Given the description of an element on the screen output the (x, y) to click on. 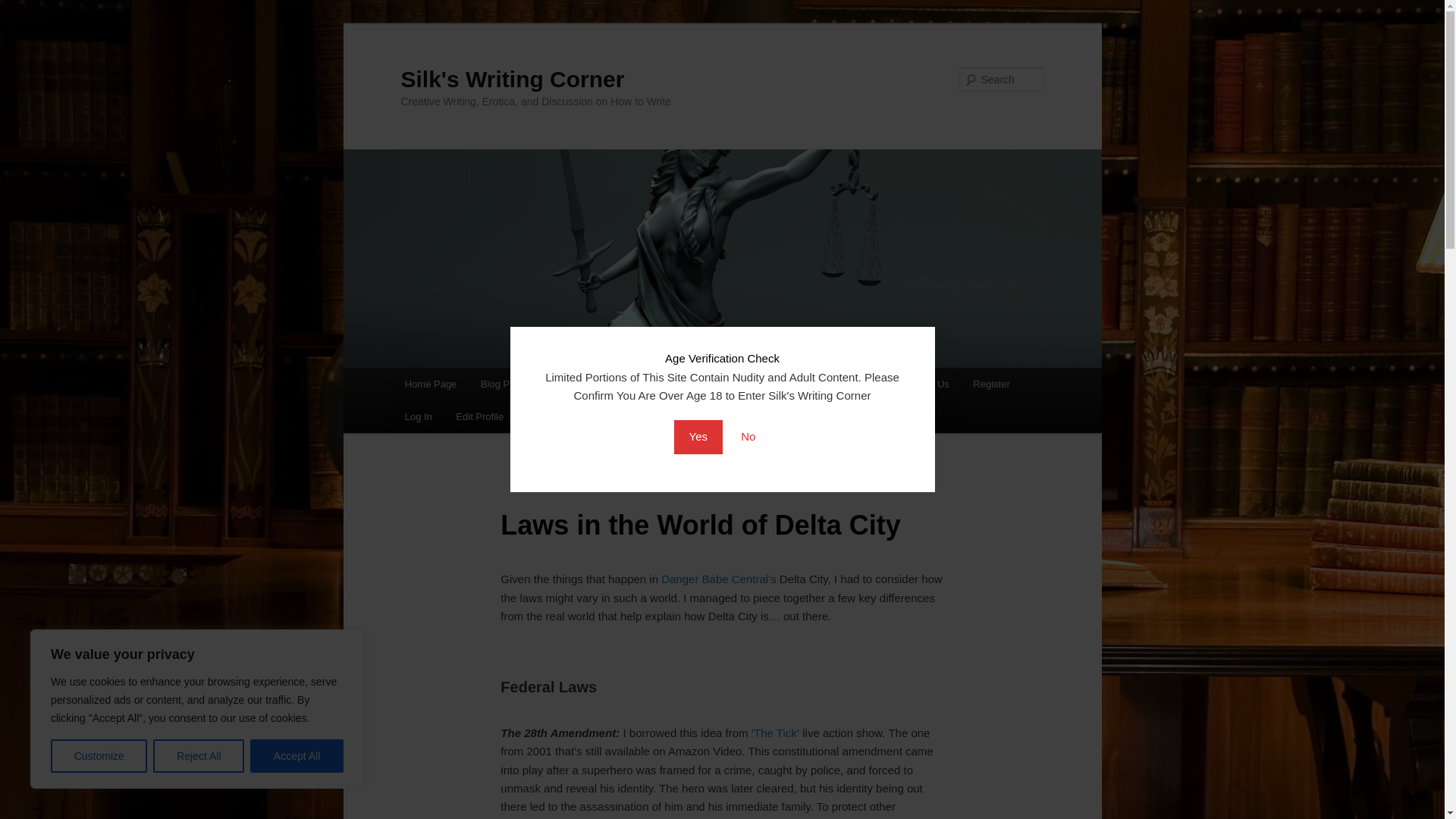
Reject All (198, 756)
Blog Posts: (504, 383)
Contact Us (924, 383)
Edit Profile (479, 416)
Home Page (430, 383)
Yes (698, 436)
Search (24, 8)
Erotica (737, 383)
Log In (418, 416)
Register (991, 383)
Silk's Writing Corner (512, 78)
No (747, 436)
Sex Talk (857, 383)
The Tick (775, 732)
